Given the description of an element on the screen output the (x, y) to click on. 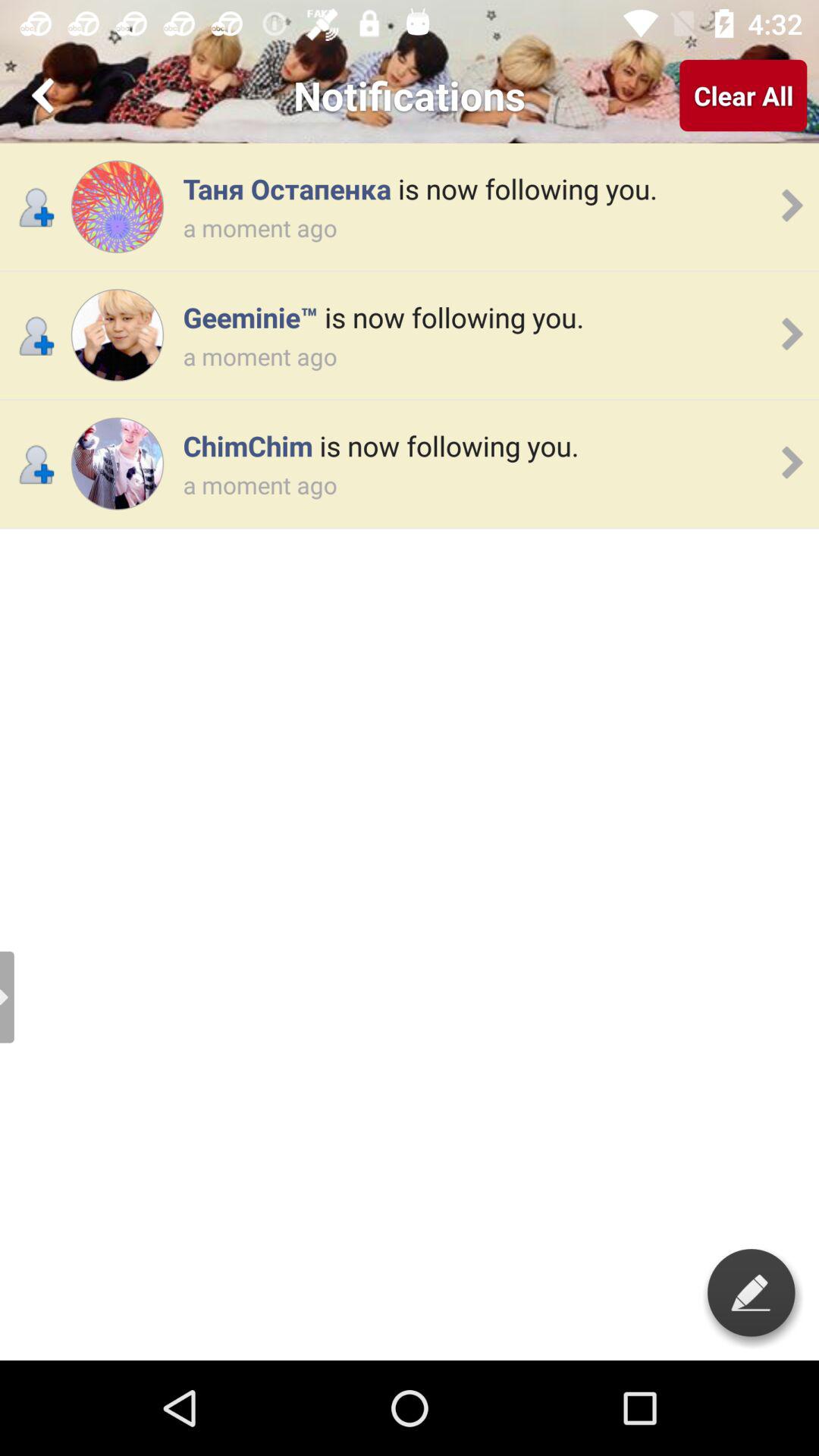
add request (117, 335)
